Given the description of an element on the screen output the (x, y) to click on. 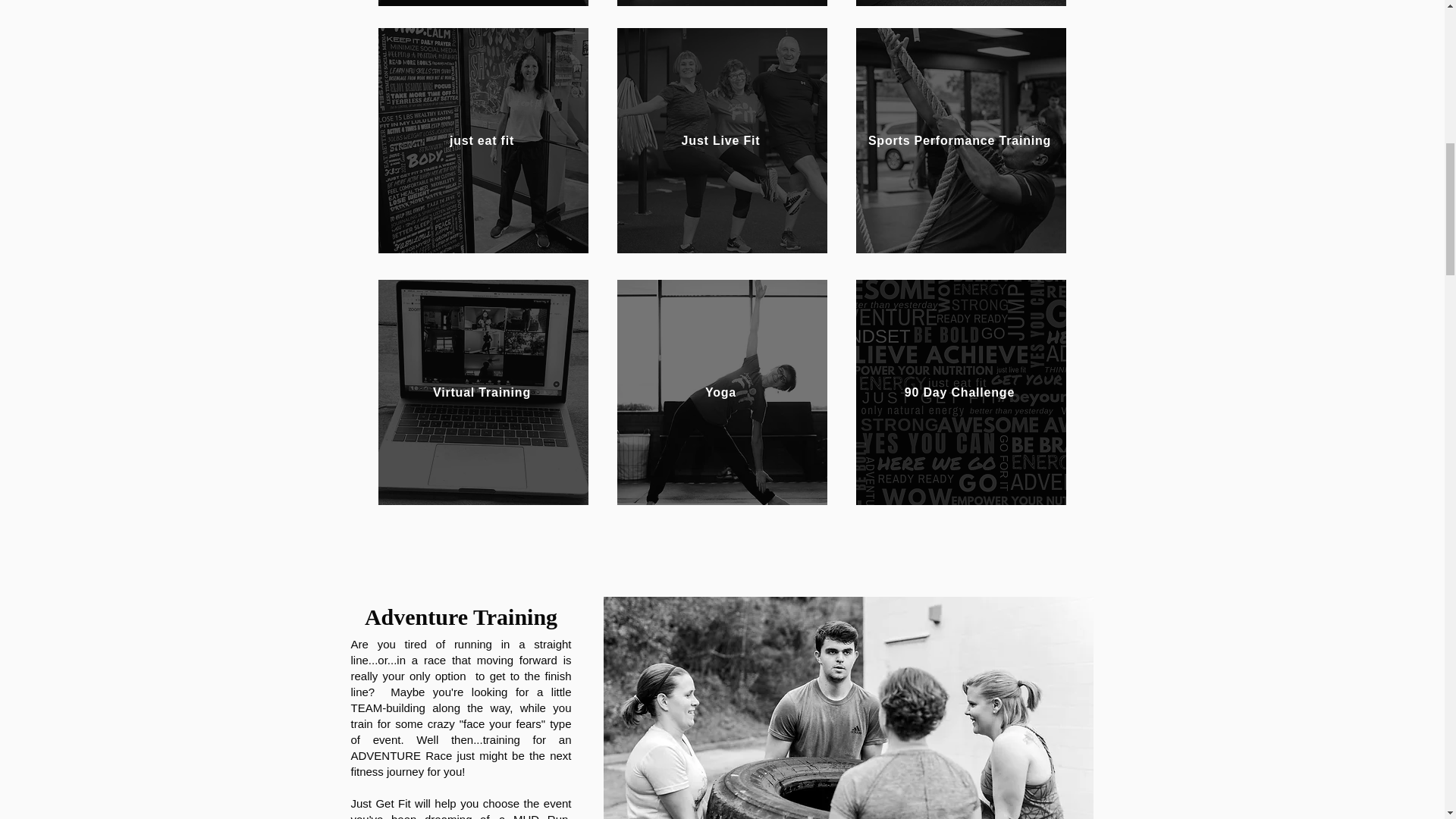
Yoga (722, 392)
Sports Performance Training (960, 140)
Just Live Fit (722, 140)
90 Day Challenge (960, 392)
just eat fit (483, 140)
Adventure Training (483, 2)
Fit Kids (960, 2)
Virtual Training (483, 392)
Corrective Exercise (722, 2)
